Given the description of an element on the screen output the (x, y) to click on. 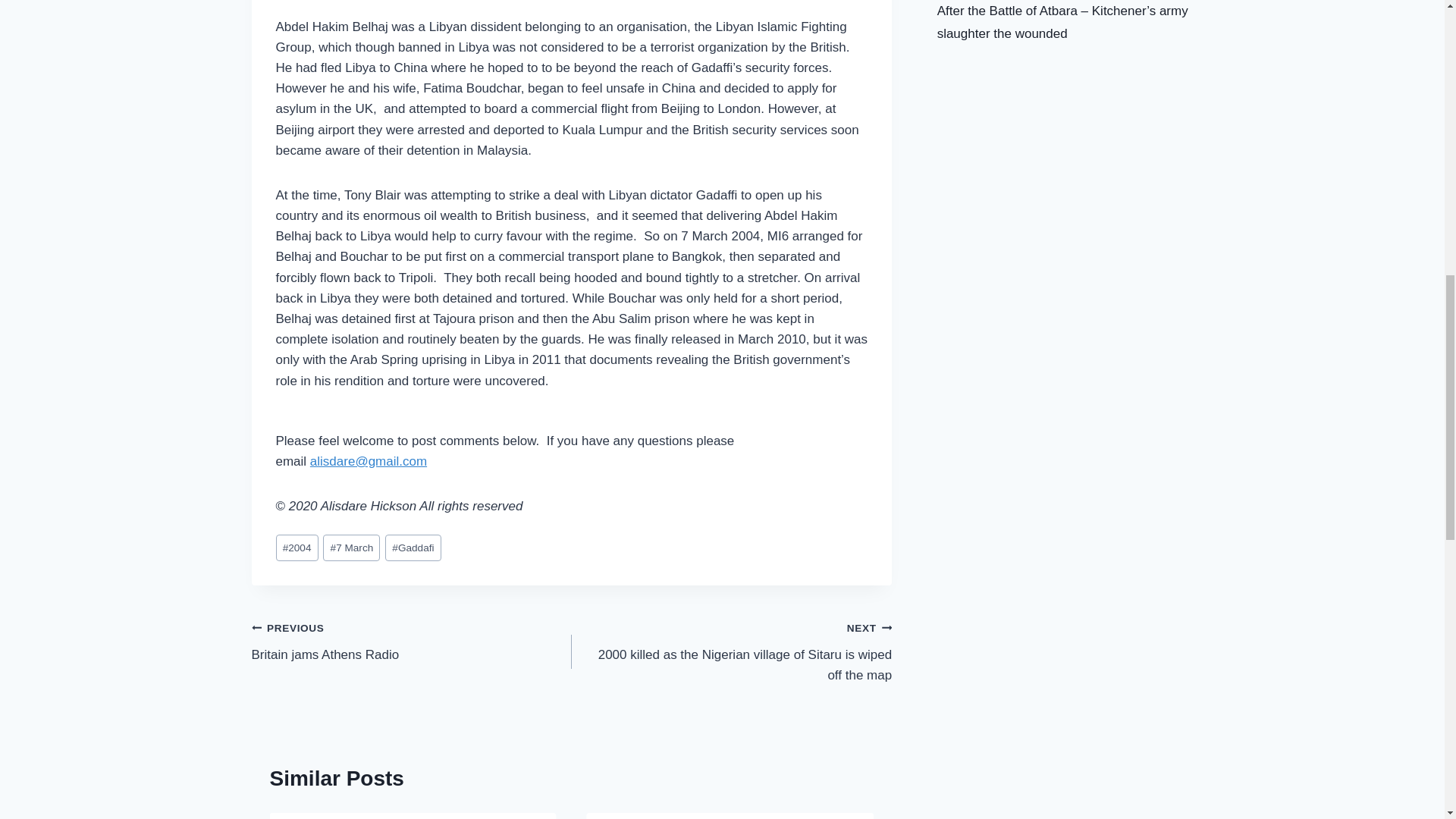
2004 (297, 547)
7 March (351, 547)
Gaddafi (413, 547)
